Given the description of an element on the screen output the (x, y) to click on. 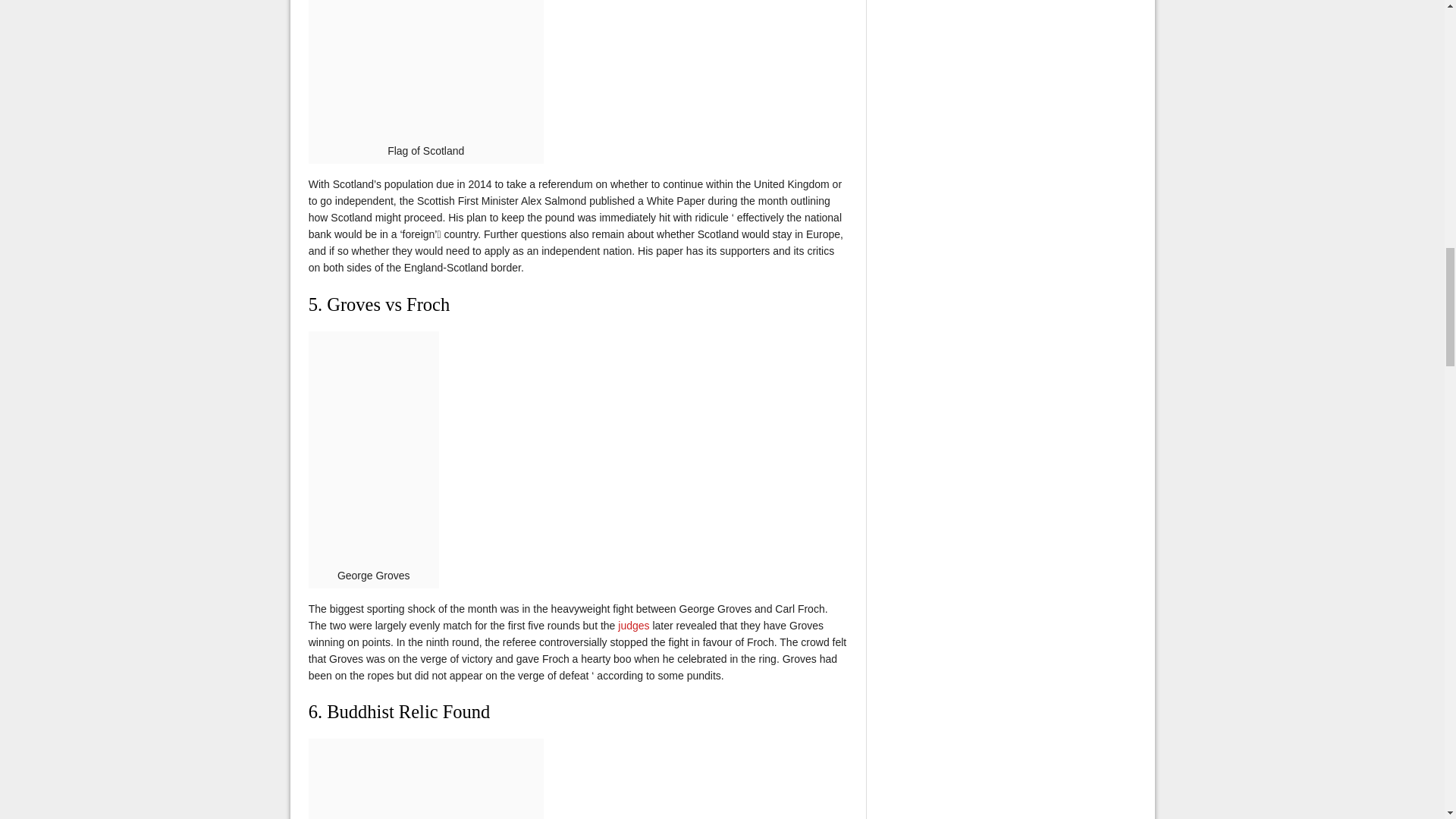
FAMOUS JUDGES IN HISTORY (633, 625)
judges (633, 625)
